Given the description of an element on the screen output the (x, y) to click on. 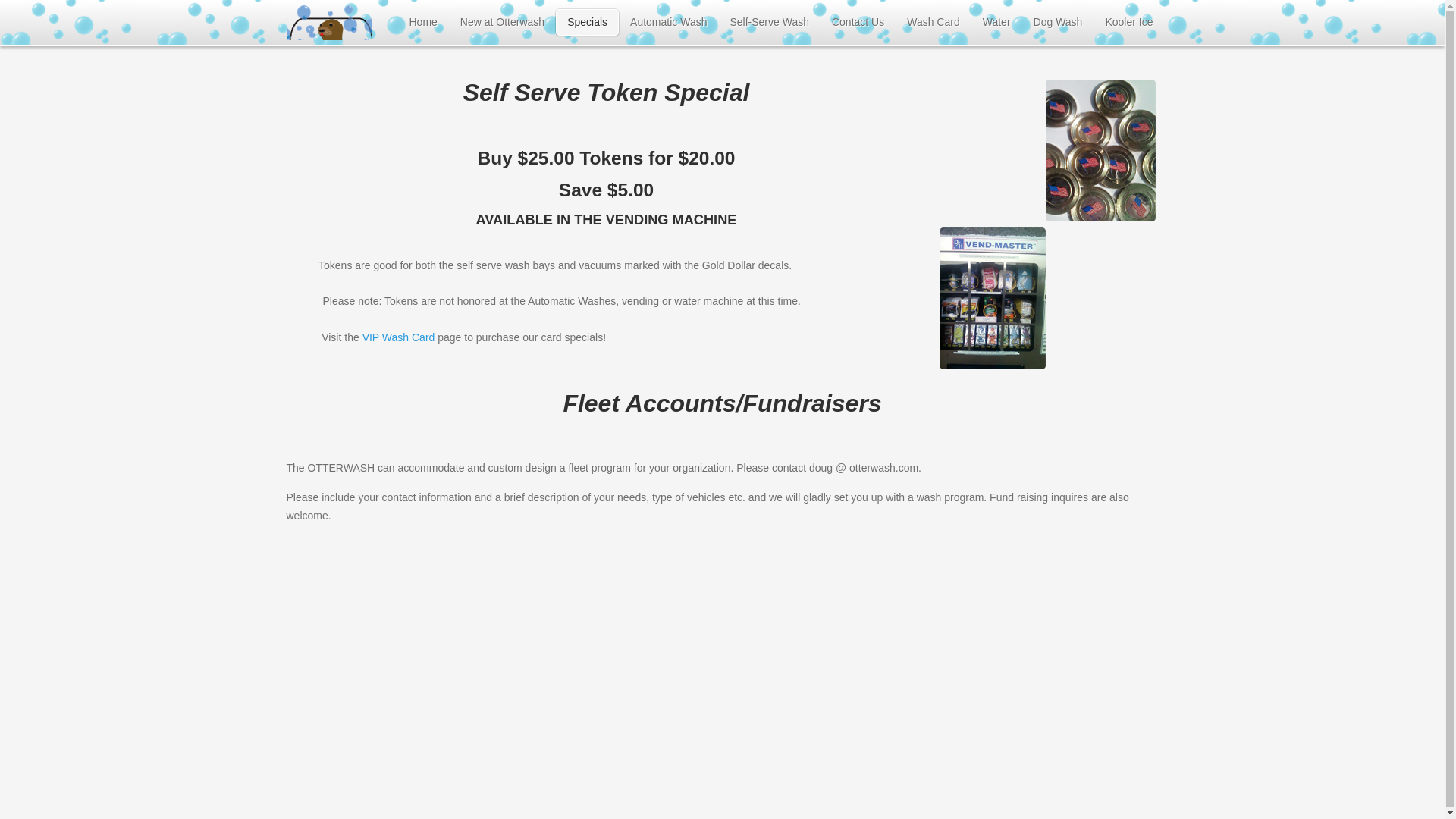
Home (422, 22)
Wash Card (933, 22)
Contact Us (858, 22)
Self-Serve Wash (769, 22)
VIP Wash Card (398, 337)
New at Otterwash (502, 22)
Dog Wash (1058, 22)
Automatic Wash (667, 22)
Specials (587, 22)
Water (996, 22)
